Given the description of an element on the screen output the (x, y) to click on. 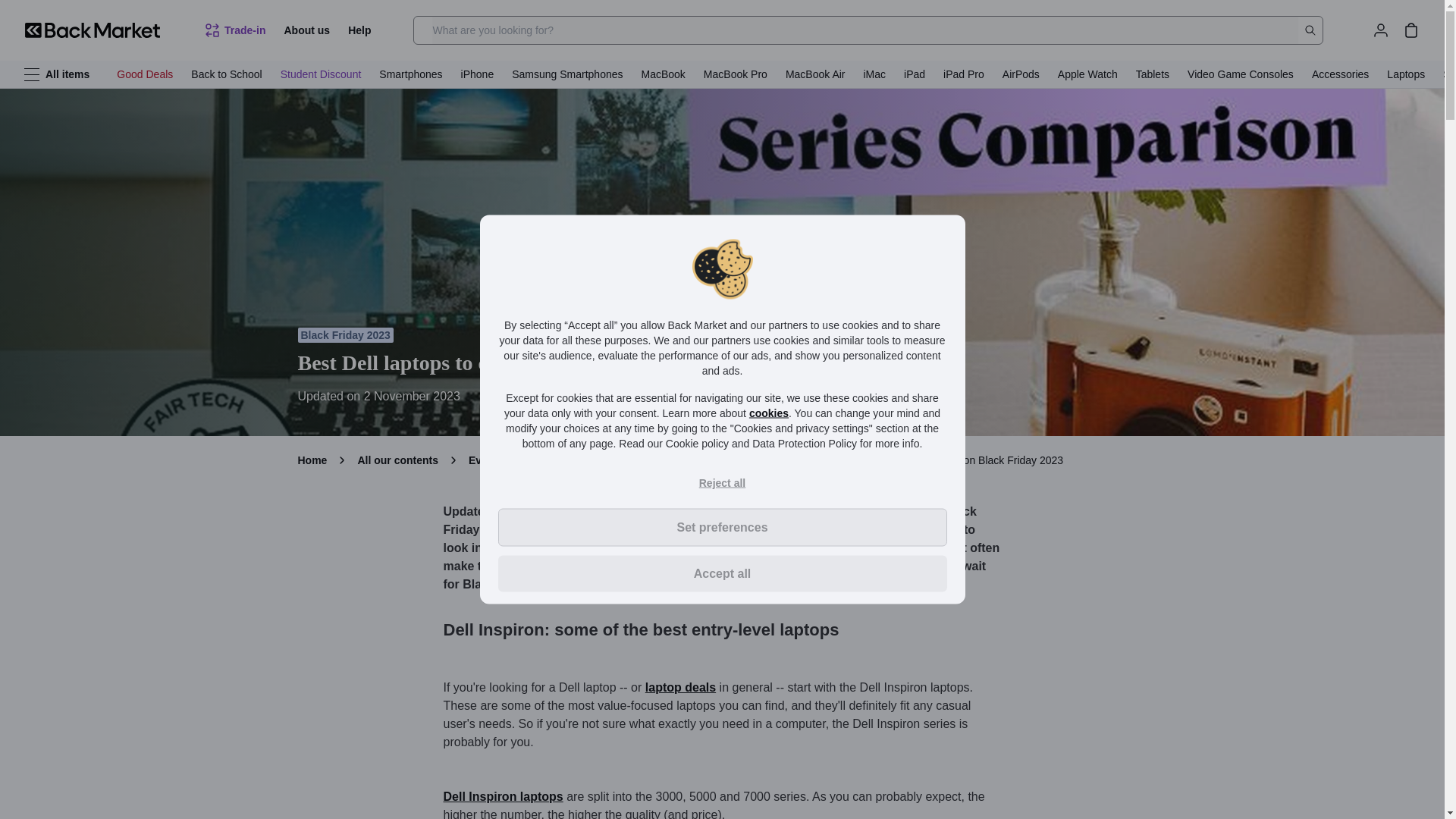
cookies (769, 412)
Video Game Consoles (1240, 74)
All items (56, 73)
About us (306, 30)
Trade-in (233, 30)
MacBook Pro (735, 74)
iPad (914, 74)
iPad Pro (963, 74)
Set preferences (721, 526)
Help (359, 30)
